Given the description of an element on the screen output the (x, y) to click on. 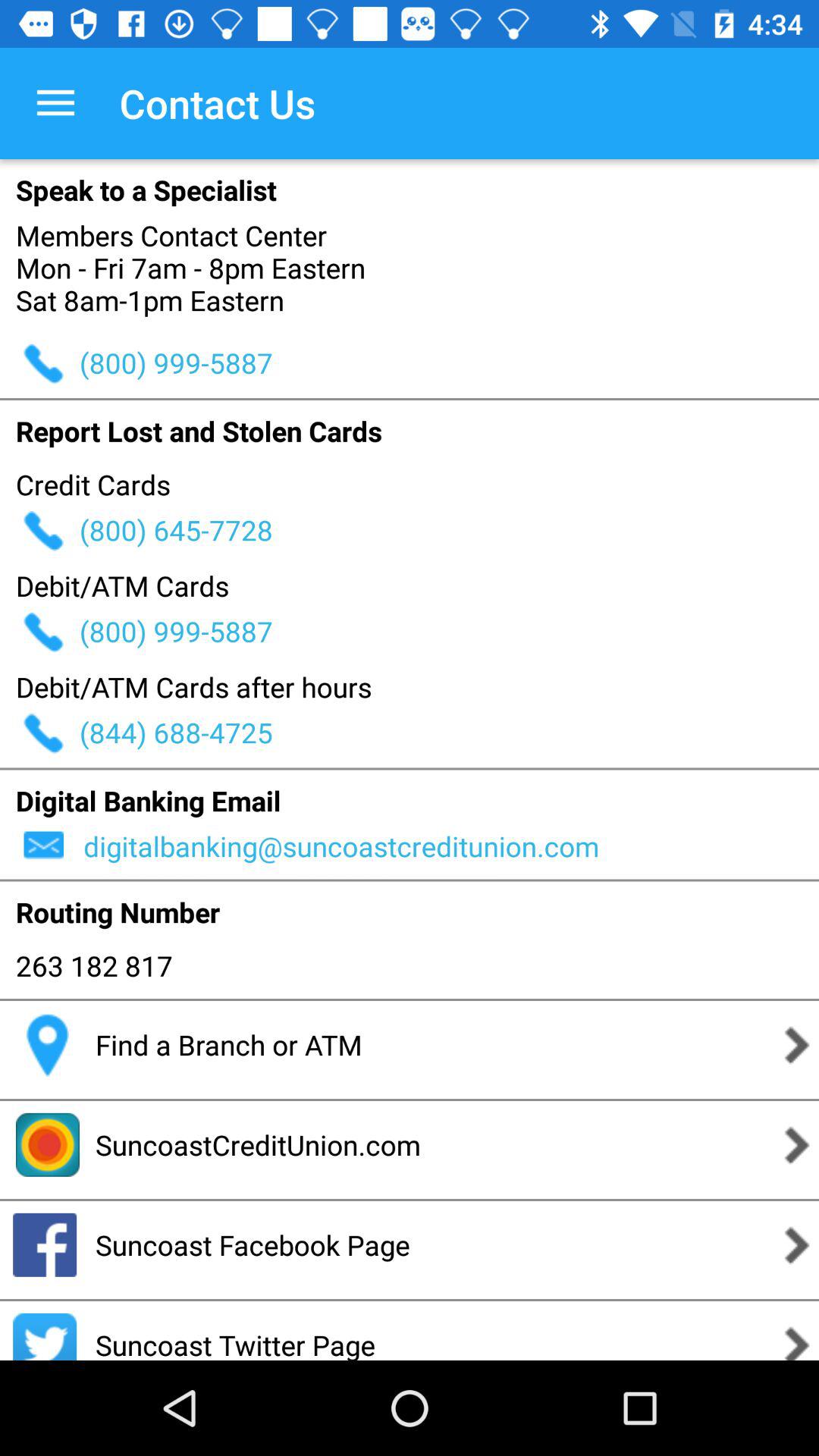
swipe until the digitalbanking@suncoastcreditunion.com item (449, 846)
